Given the description of an element on the screen output the (x, y) to click on. 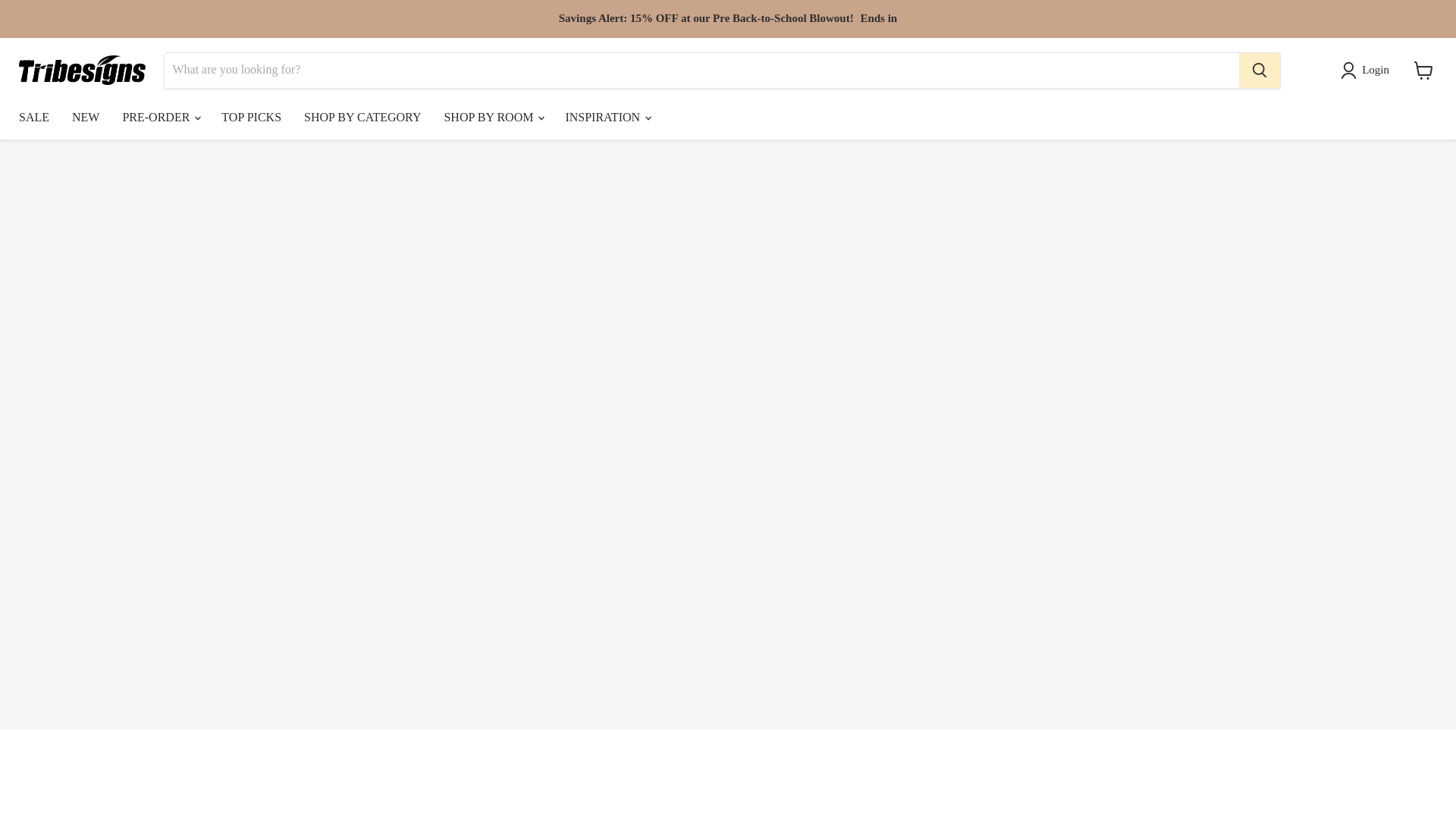
TOP PICKS (250, 117)
SHOP BY CATEGORY (362, 117)
View cart (1423, 69)
NEW (85, 117)
SALE (34, 117)
Login (1367, 69)
